Given the description of an element on the screen output the (x, y) to click on. 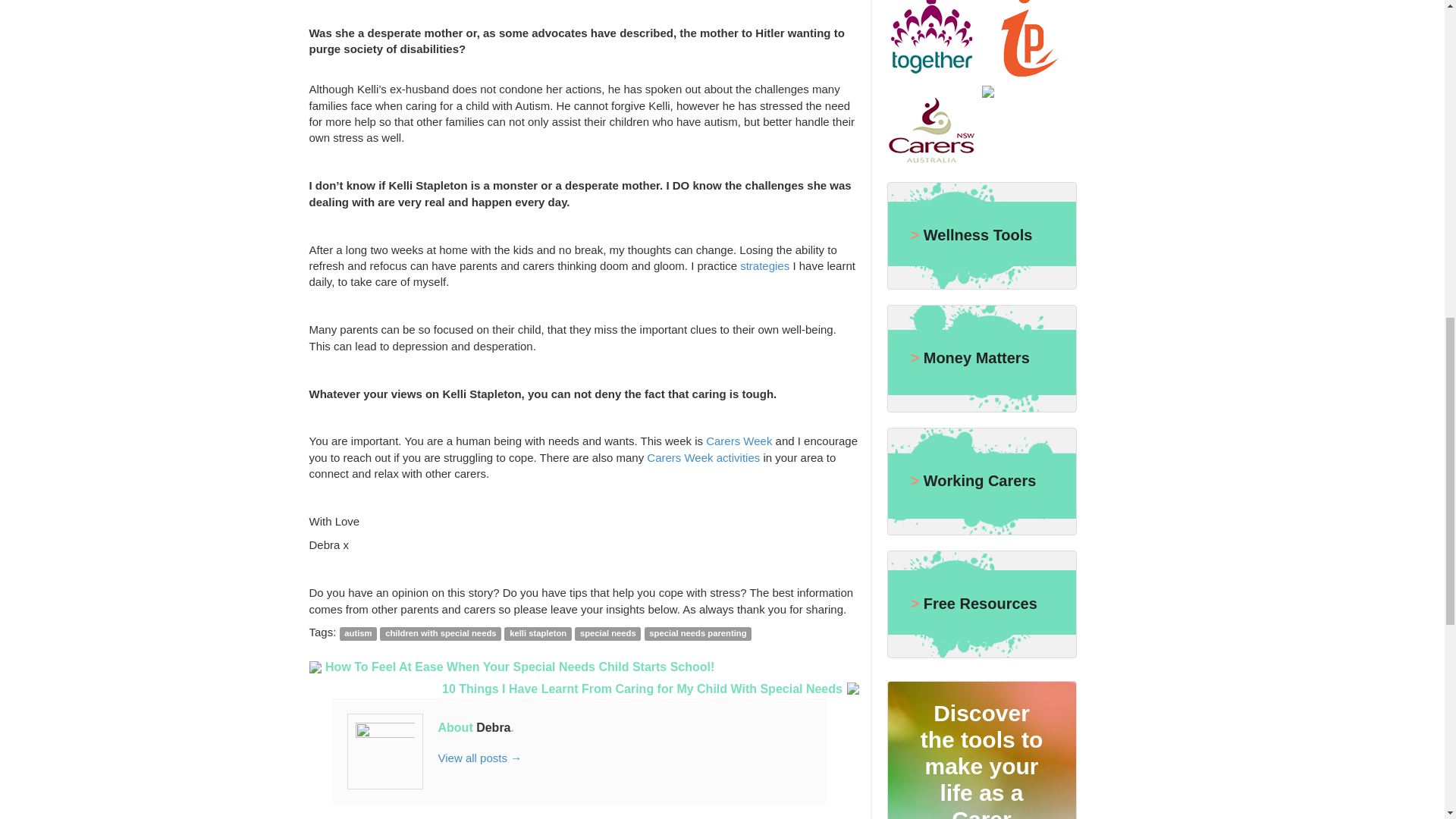
kelli stapleton (537, 633)
autism (358, 633)
Debra (493, 727)
children with special needs (440, 633)
strategies (764, 265)
special needs (607, 633)
Carers Week (738, 440)
Carers Week activities (703, 457)
special needs parenting (698, 633)
Posts by Debra (493, 727)
